Given the description of an element on the screen output the (x, y) to click on. 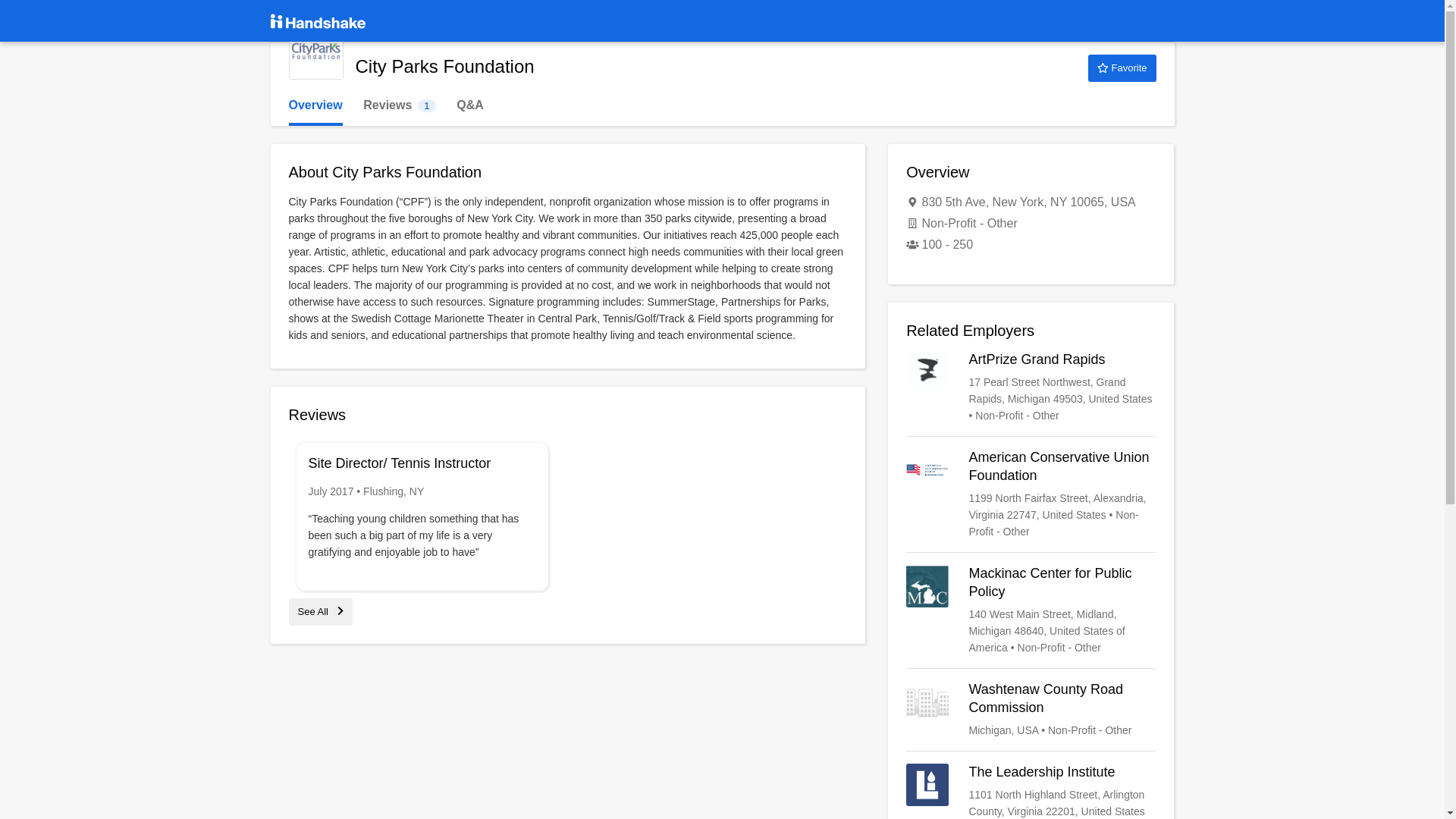
Mackinac Center for Public Policy (1030, 610)
ArtPrize Grand Rapids (1030, 387)
The Leadership Institute (1030, 791)
Washtenaw County Road Commission (1030, 709)
American Conservative Union Foundation (1030, 493)
Overview (315, 105)
See All (320, 611)
Favorite (1121, 67)
City Parks Foundation (398, 105)
